Given the description of an element on the screen output the (x, y) to click on. 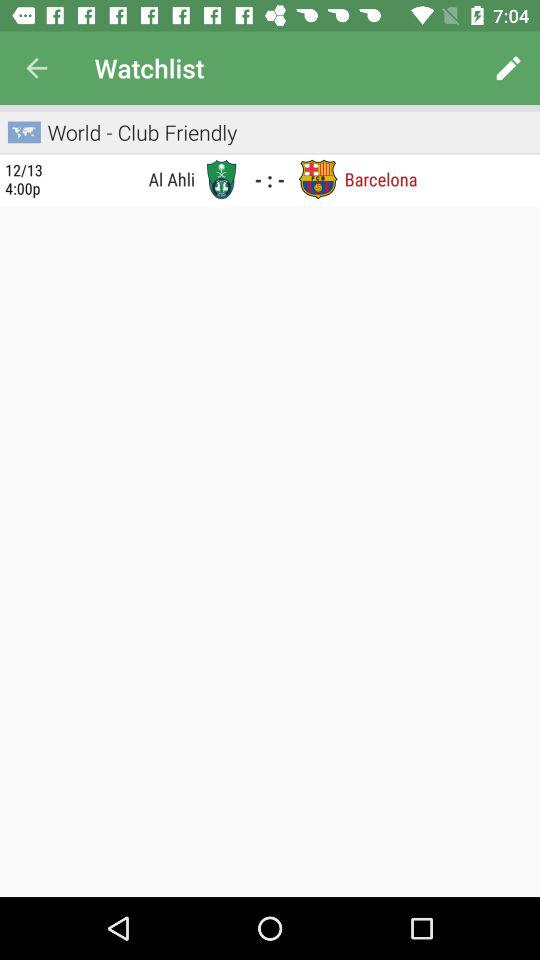
click item next to the watchlist icon (508, 67)
